Given the description of an element on the screen output the (x, y) to click on. 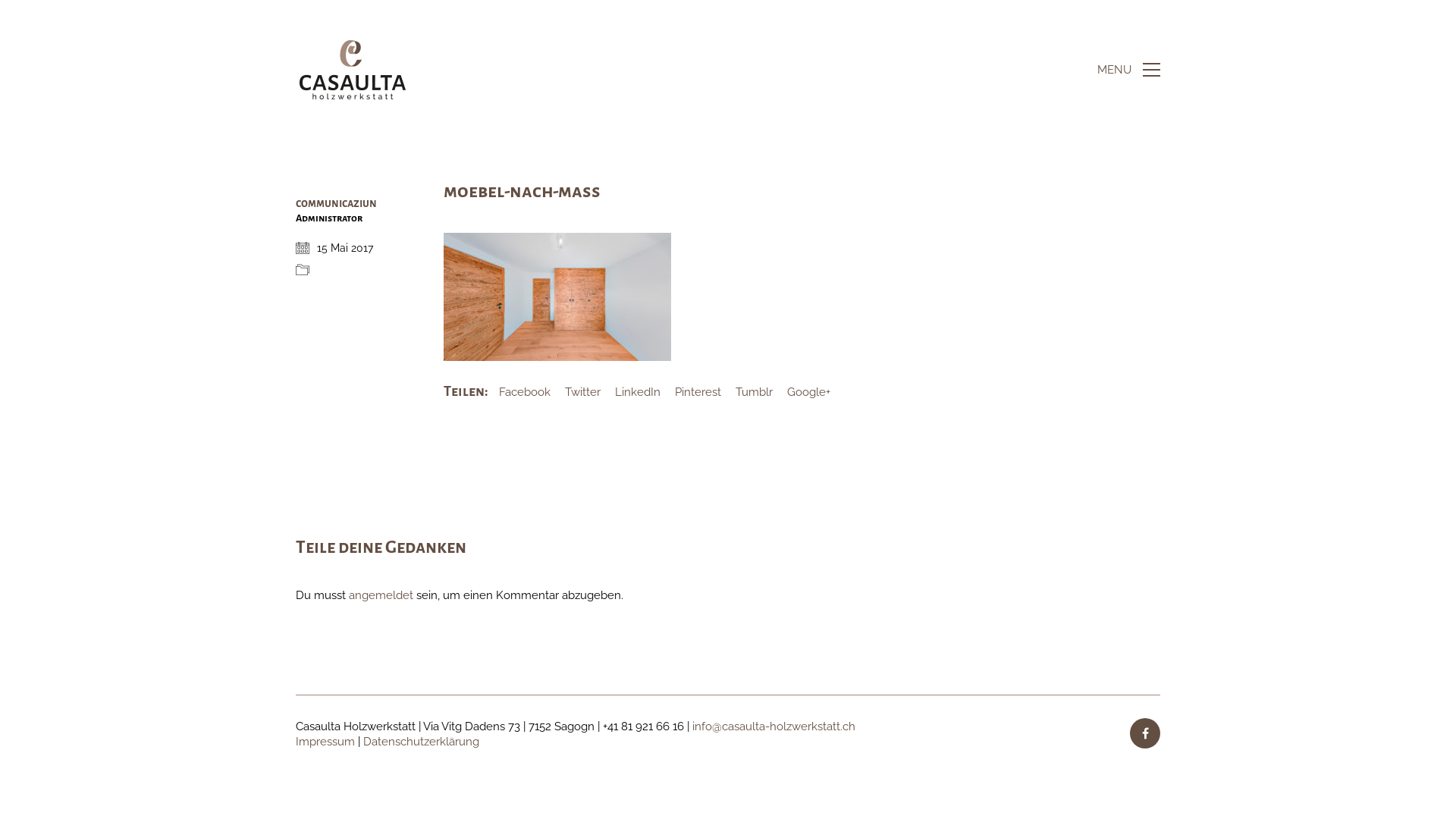
Pinterest Element type: text (697, 392)
info@casaulta-holzwerkstatt.ch Element type: text (773, 726)
angemeldet Element type: text (380, 595)
Twitter Element type: text (582, 392)
Google+ Element type: text (808, 392)
LinkedIn Element type: text (637, 392)
communicaziun
Administrator Element type: text (343, 218)
Tumblr Element type: text (753, 392)
MENU Element type: text (1128, 69)
Facebook Element type: hover (1144, 733)
Impressum Element type: text (324, 741)
Facebook Element type: text (524, 392)
